Given the description of an element on the screen output the (x, y) to click on. 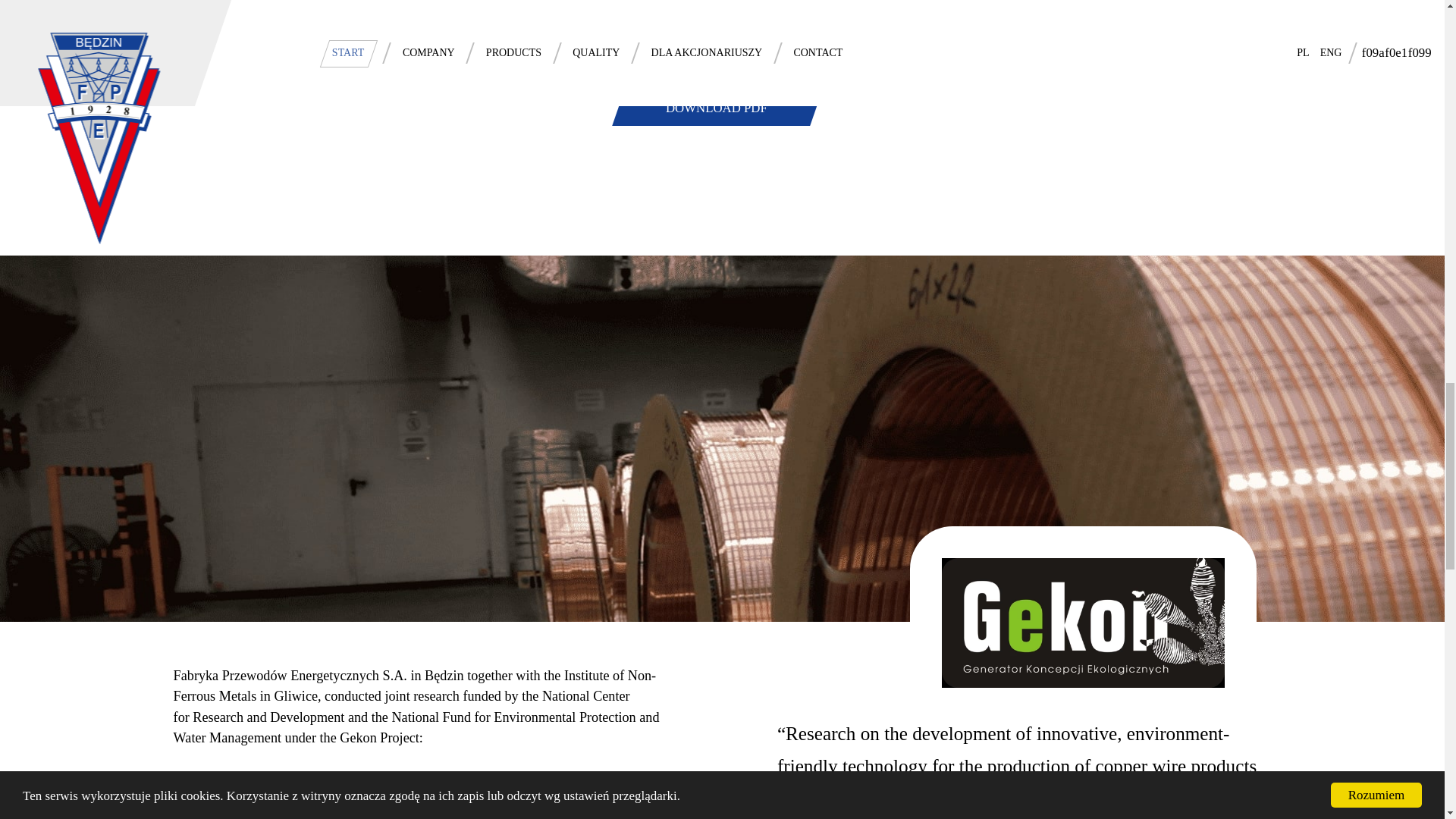
READ MORE (210, 807)
DOWNLOAD PDF (717, 108)
